Given the description of an element on the screen output the (x, y) to click on. 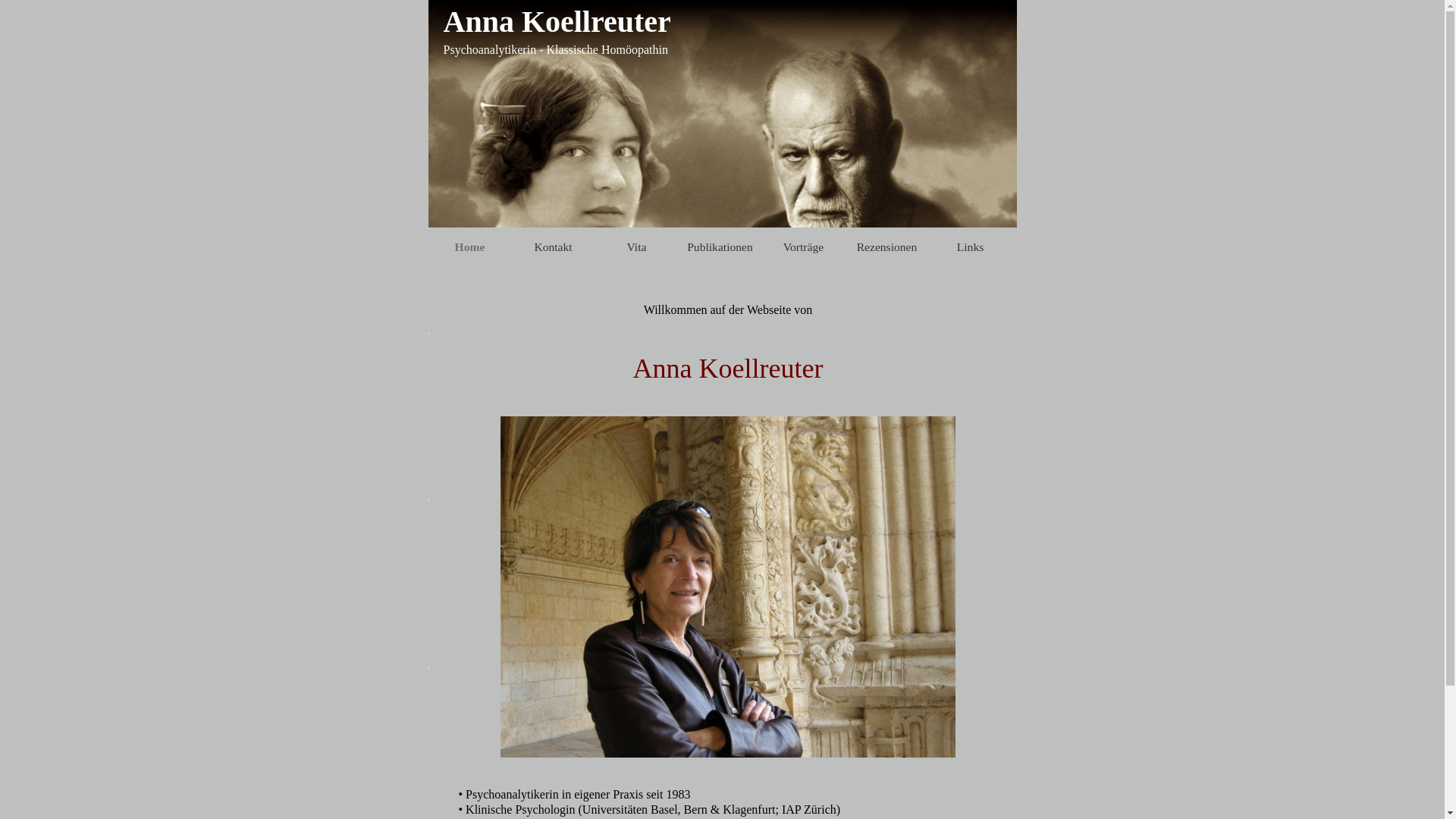
Publikationen Element type: text (719, 245)
Links Element type: text (969, 245)
Kontakt Element type: text (552, 245)
Rezensionen Element type: text (886, 245)
Vita Element type: text (635, 245)
Home Element type: text (469, 245)
